Given the description of an element on the screen output the (x, y) to click on. 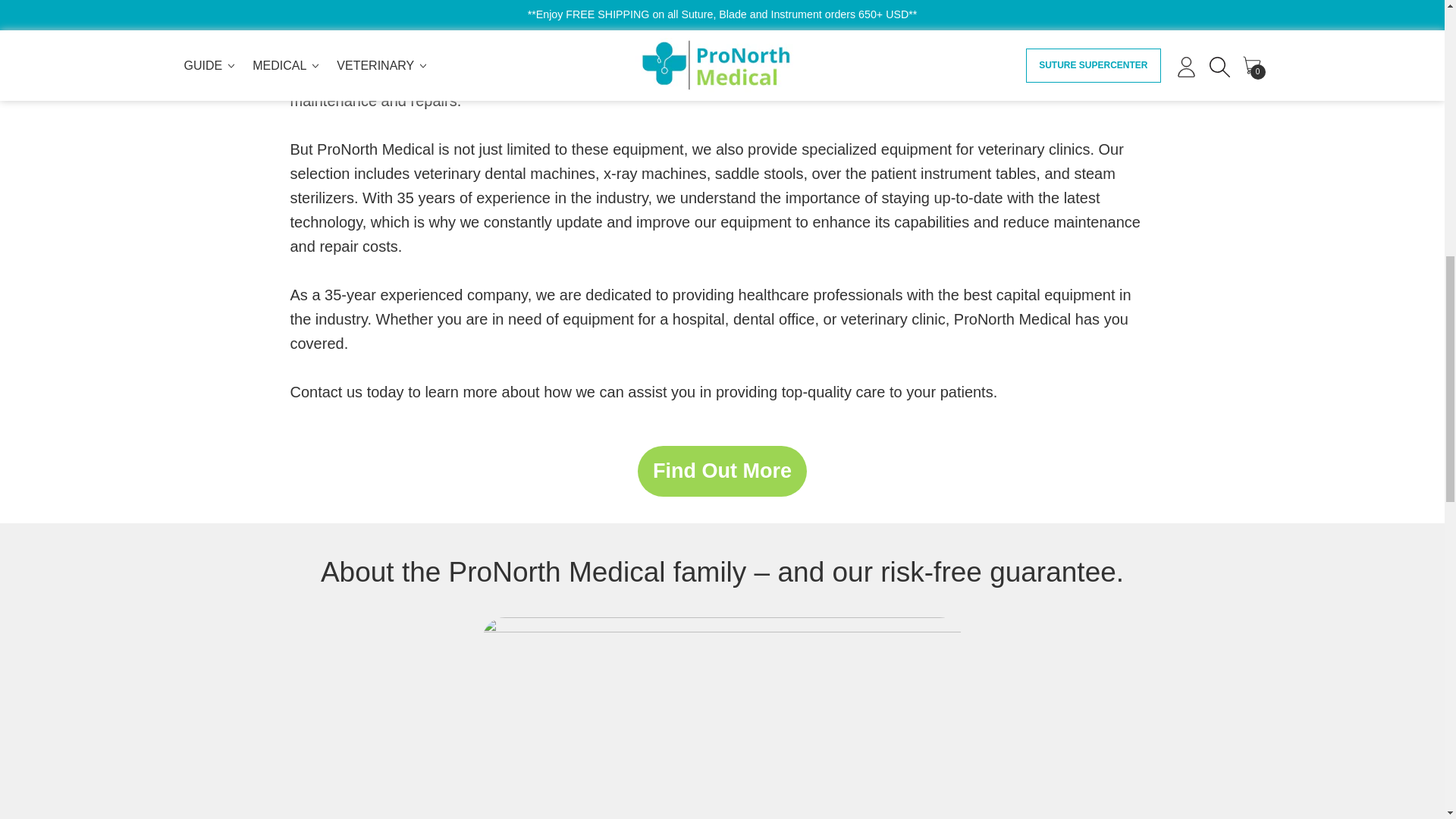
Find Out More (721, 470)
